Given the description of an element on the screen output the (x, y) to click on. 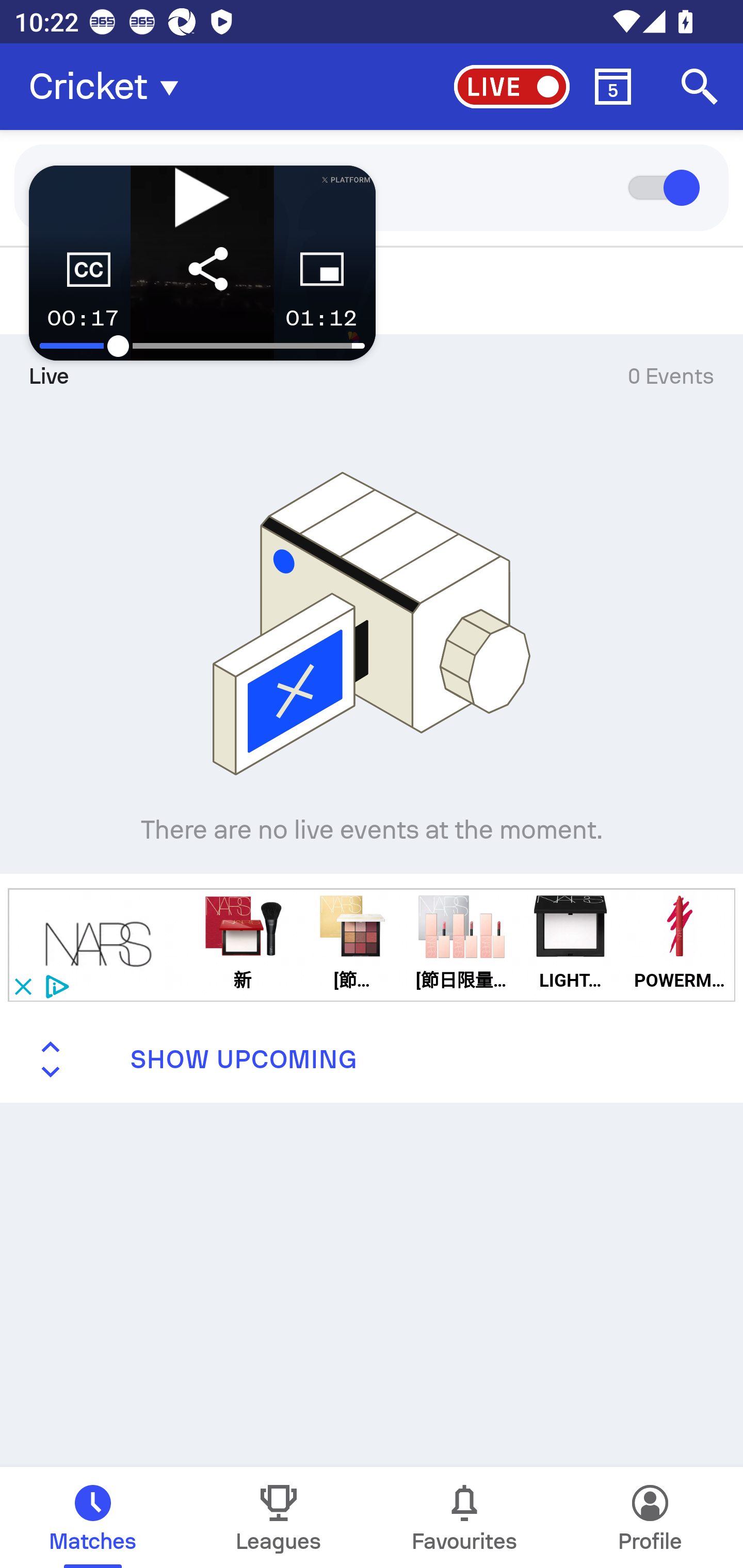
Cricket (109, 86)
Calendar (612, 86)
Search (699, 86)
   (98, 944)
 新 新 (241, 944)
 [節日限量… [節… (352, 944)
 [節… [節日限量… (460, 944)
 LIGHT… LIGHT… (570, 944)
 POWERM… POWERM… (680, 944)
close_button (21, 985)
privacy_small (54, 985)
SHOW UPCOMING (371, 1059)
Leagues (278, 1517)
Favourites (464, 1517)
Profile (650, 1517)
